Given the description of an element on the screen output the (x, y) to click on. 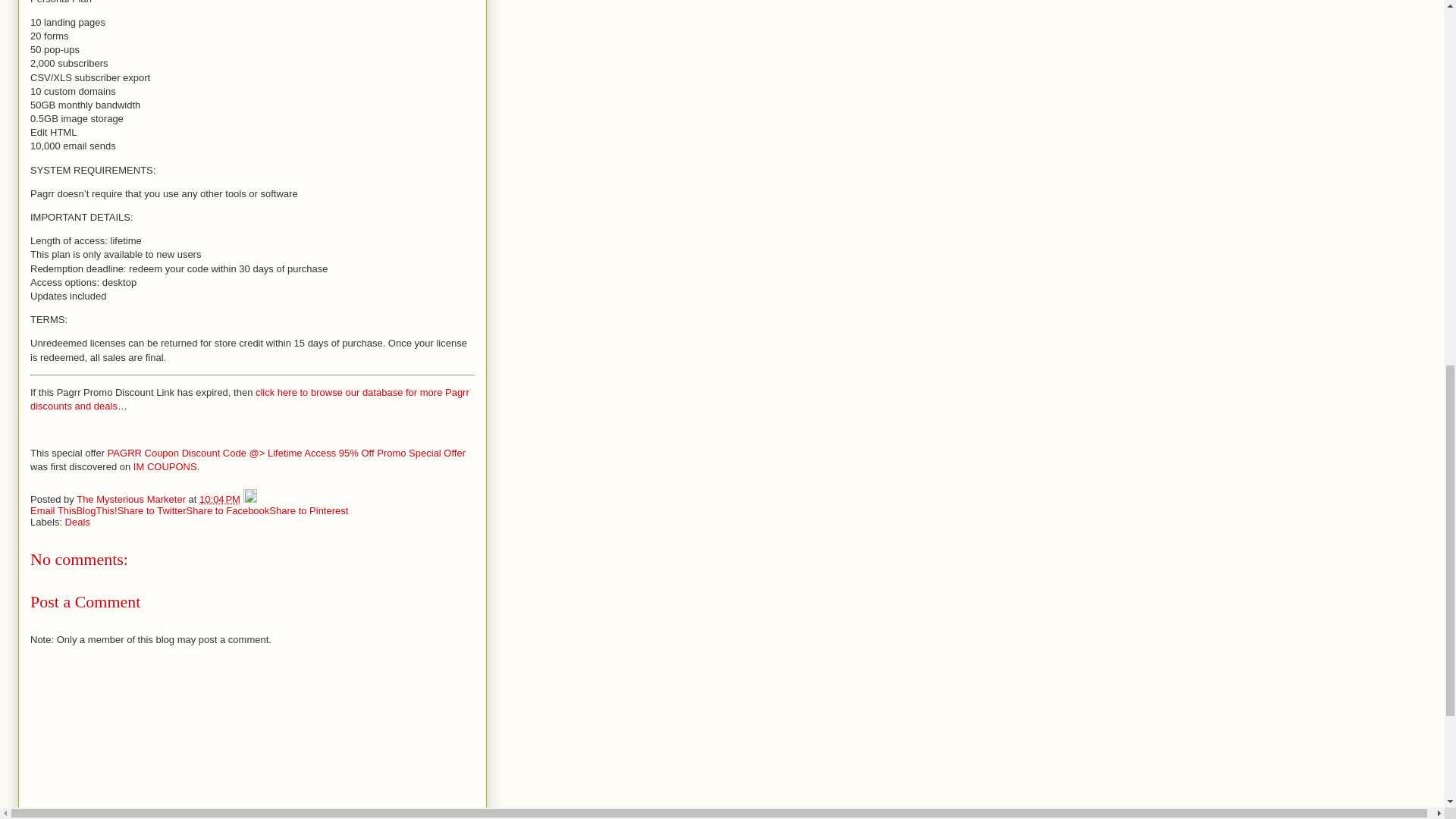
Email This (52, 510)
permanent link (219, 499)
Email This (52, 510)
BlogThis! (95, 510)
Share to Twitter (151, 510)
Share to Twitter (151, 510)
author profile (132, 499)
IM COUPONS (164, 466)
Share to Pinterest (308, 510)
BlogThis! (95, 510)
Share to Facebook (227, 510)
Edit Post (250, 499)
Deals (77, 521)
